Given the description of an element on the screen output the (x, y) to click on. 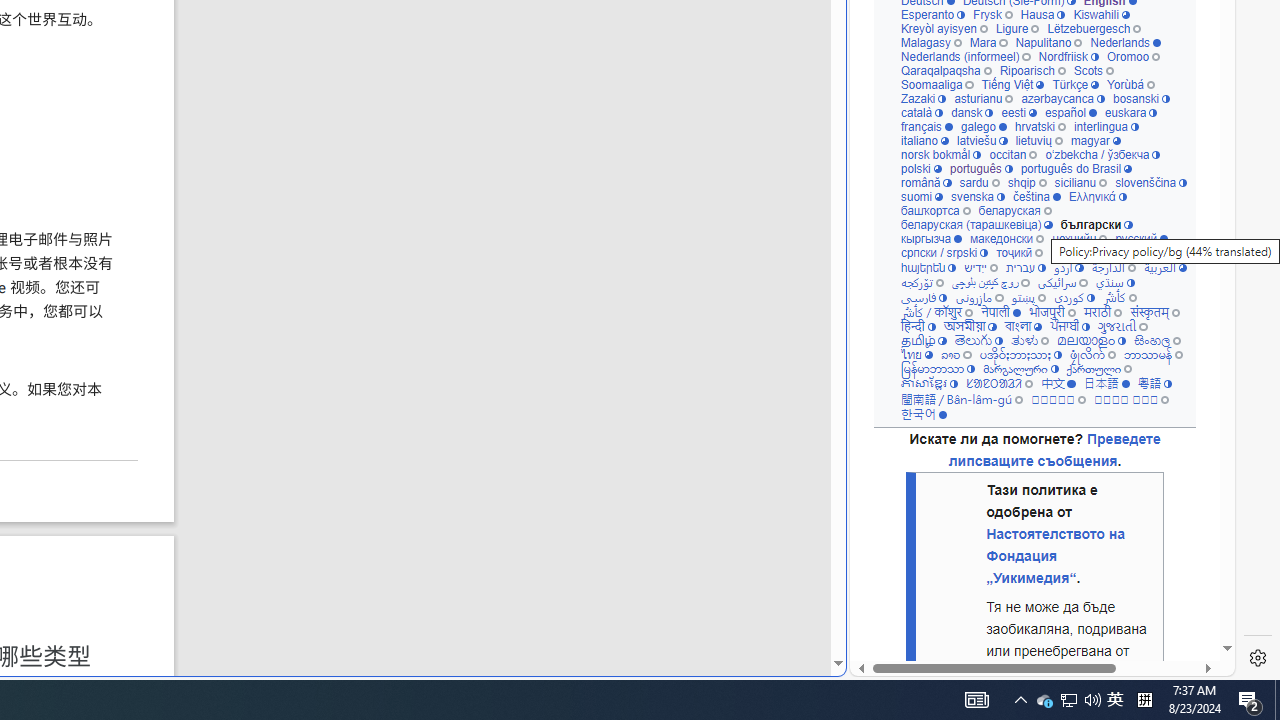
sardu (978, 182)
Frysk (992, 14)
Esperanto (932, 14)
